Given the description of an element on the screen output the (x, y) to click on. 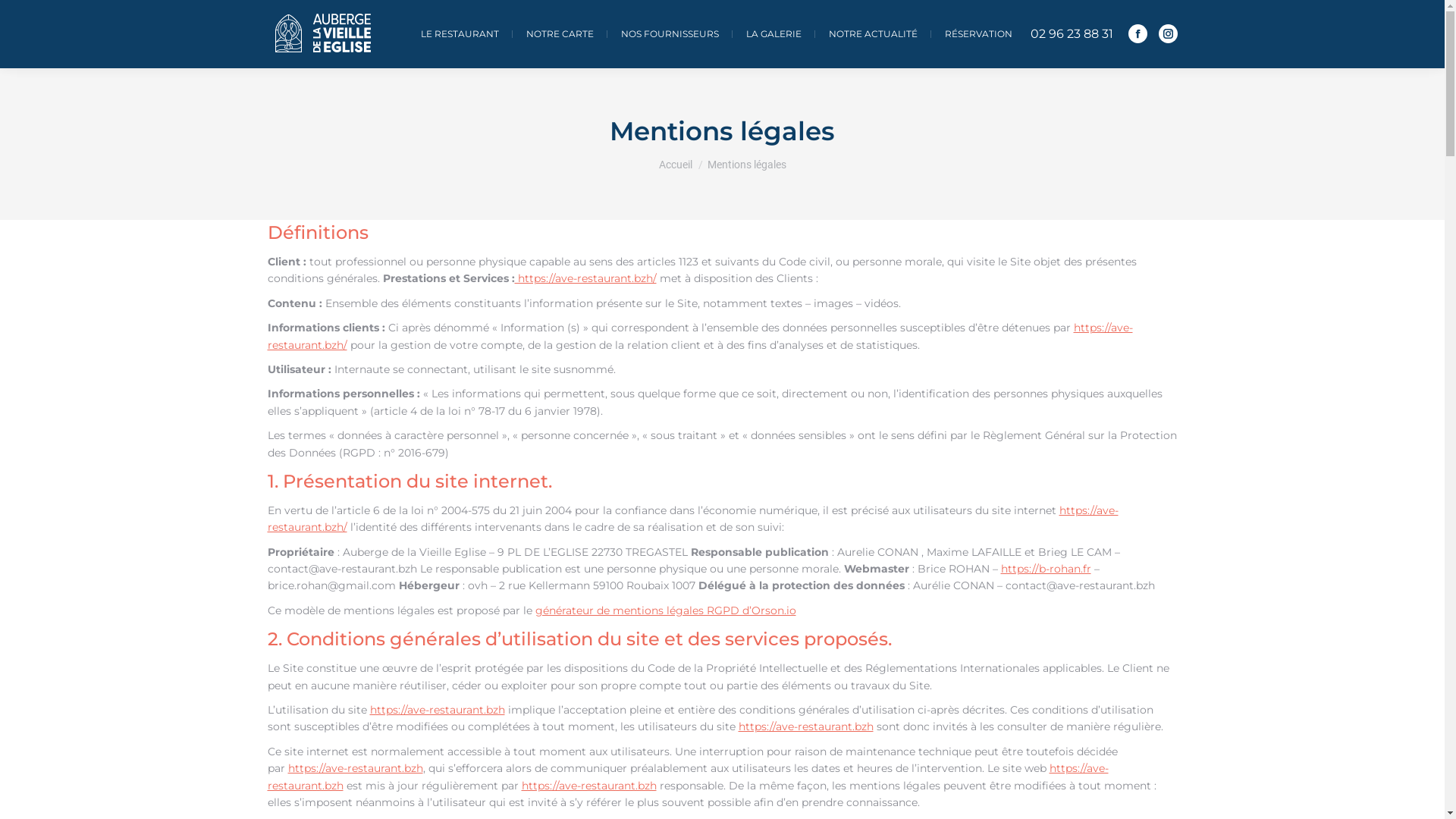
https://ave-restaurant.bzh Element type: text (588, 785)
https://ave-restaurant.bzh/ Element type: text (699, 335)
 https://ave-restaurant.bzh/ Element type: text (584, 278)
LE RESTAURANT Element type: text (459, 33)
https://b-rohan.fr Element type: text (1046, 568)
https://ave-restaurant.bzh Element type: text (437, 709)
NOTRE CARTE Element type: text (559, 33)
https://ave-restaurant.bzh Element type: text (805, 726)
NOS FOURNISSEURS Element type: text (669, 33)
Accueil Element type: text (674, 164)
LA GALERIE Element type: text (773, 33)
https://ave-restaurant.bzh Element type: text (686, 776)
https://ave-restaurant.bzh Element type: text (355, 768)
https://ave-restaurant.bzh/ Element type: text (691, 518)
